Given the description of an element on the screen output the (x, y) to click on. 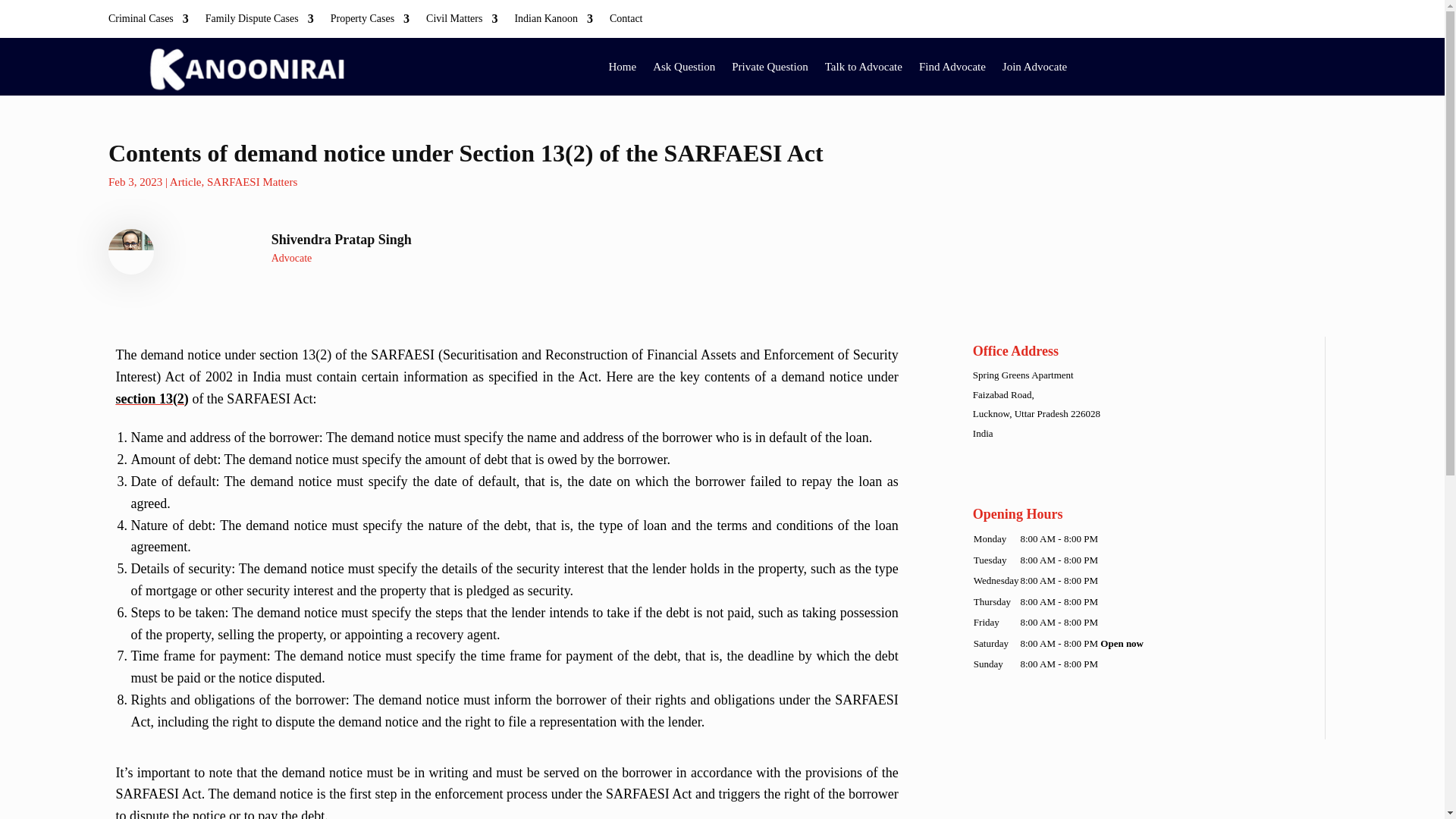
Family Dispute Cases (259, 21)
Indian Kanoon (552, 21)
Private Question (770, 66)
Article (186, 182)
Property Cases (369, 21)
Contact (626, 21)
Civil Matters (461, 21)
SARFAESI Matters (251, 182)
shivendra mini profile pic (130, 251)
Join Advocate (1035, 66)
